Given the description of an element on the screen output the (x, y) to click on. 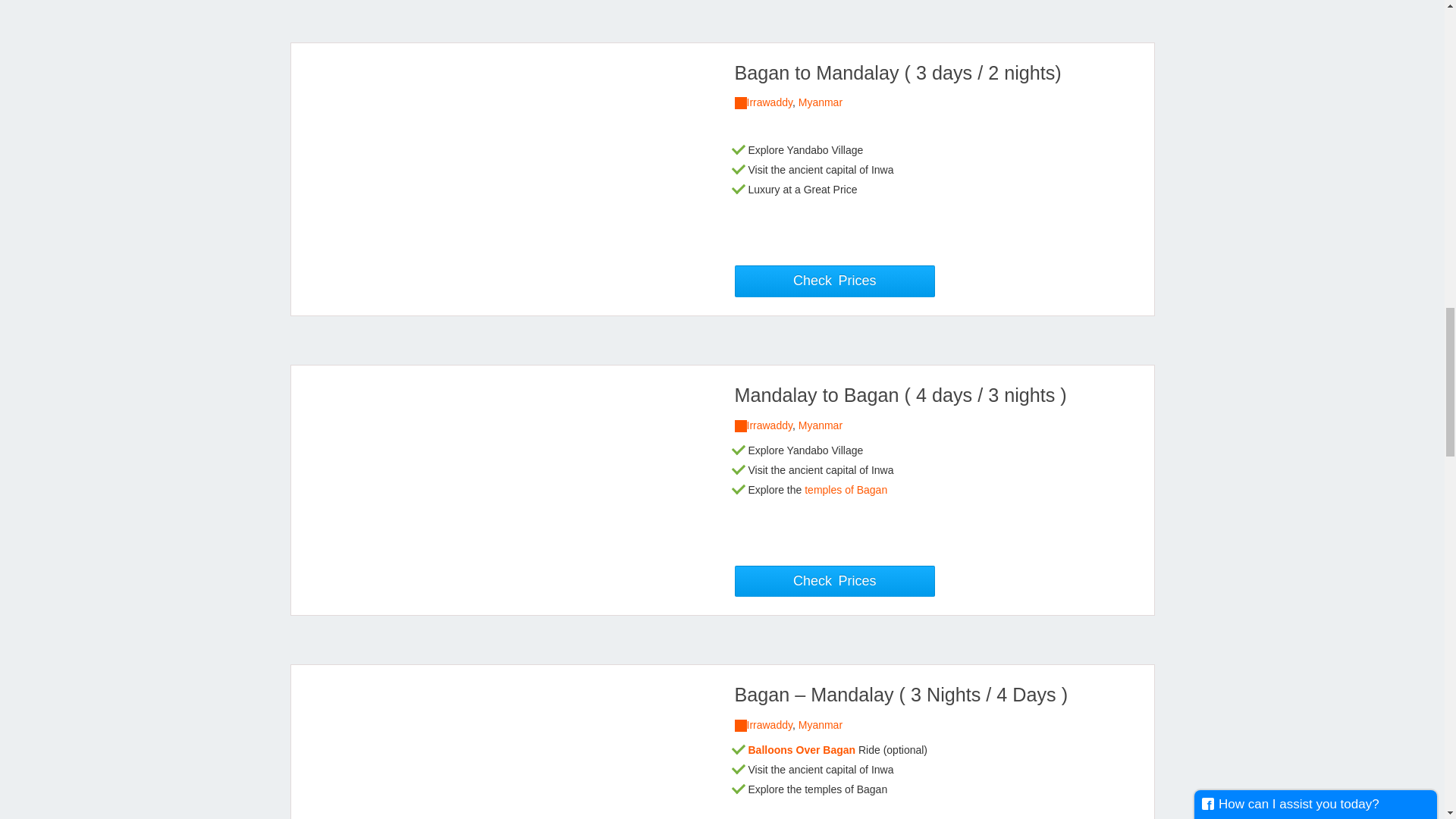
Myanmar (820, 102)
temples of Bagan (845, 490)
Check Prices (833, 581)
Irrawaddy (768, 425)
Irrawaddy (768, 102)
Check Prices (833, 281)
Myanmar (820, 425)
Irrawaddy (768, 725)
Myanmar (820, 725)
Balloons Over Bagan (802, 749)
